Given the description of an element on the screen output the (x, y) to click on. 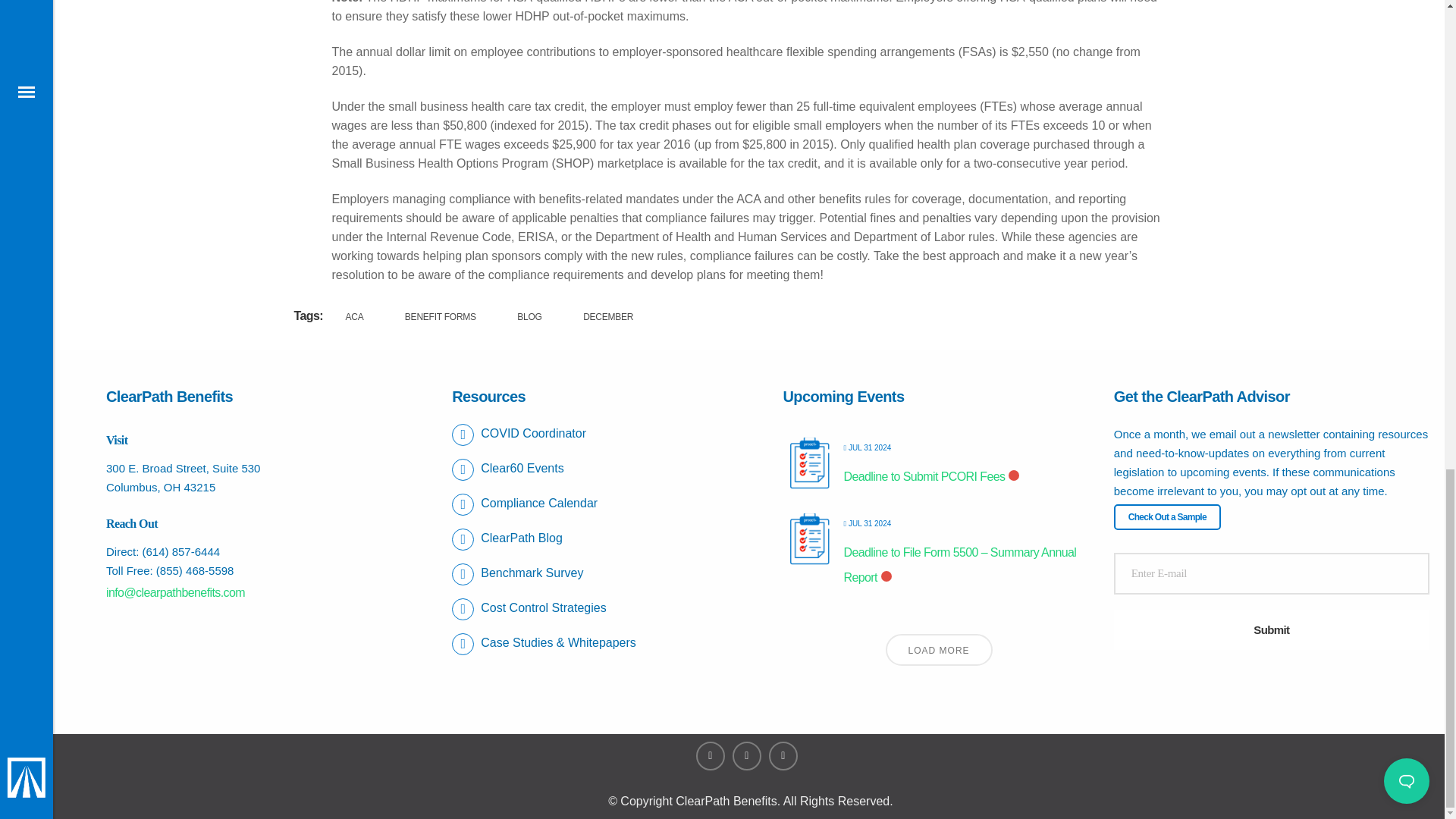
Submit (1271, 629)
